Given the description of an element on the screen output the (x, y) to click on. 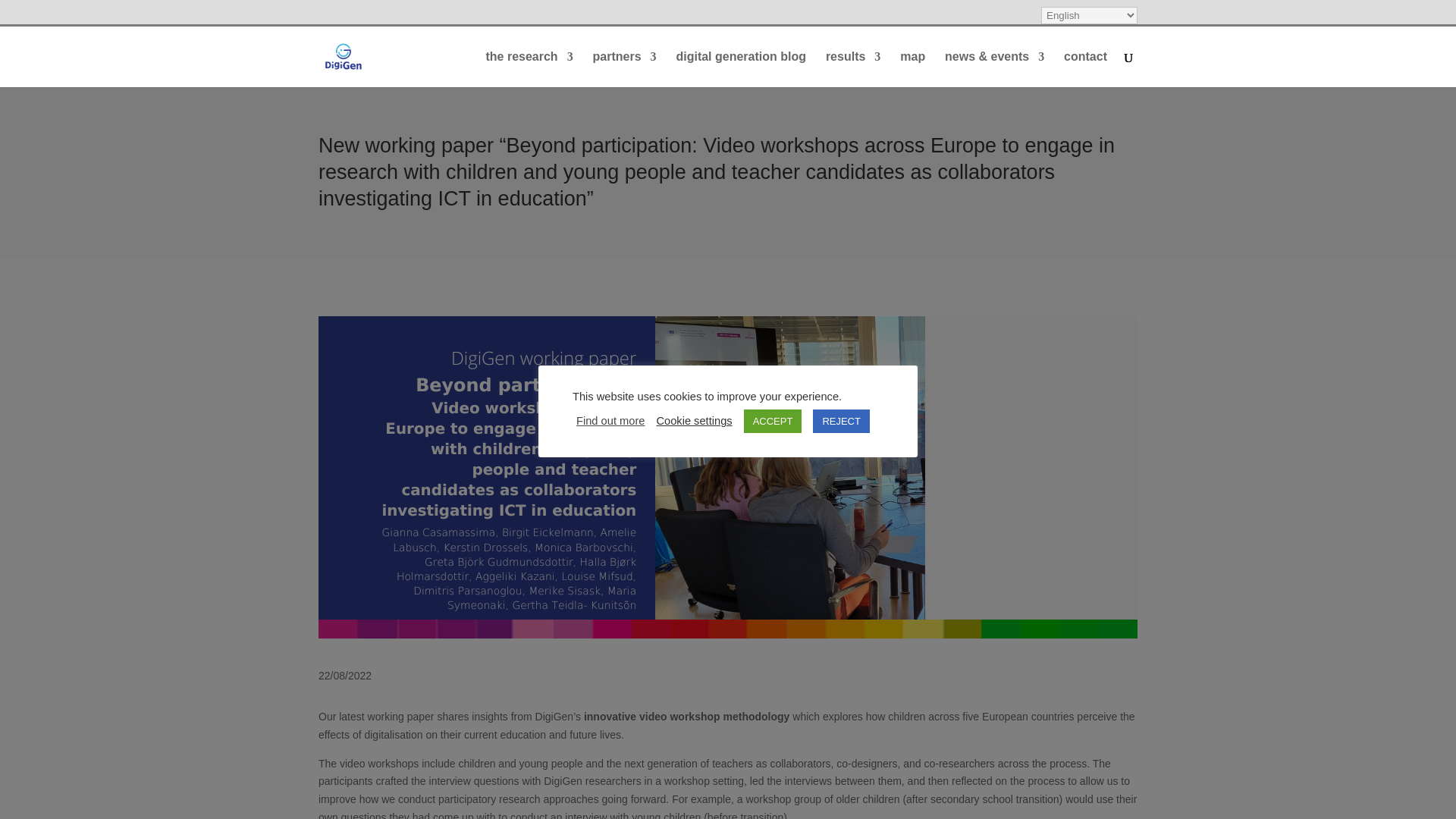
partners (624, 68)
digital generation blog (740, 68)
the research (528, 68)
contact (1085, 68)
results (852, 68)
